Given the description of an element on the screen output the (x, y) to click on. 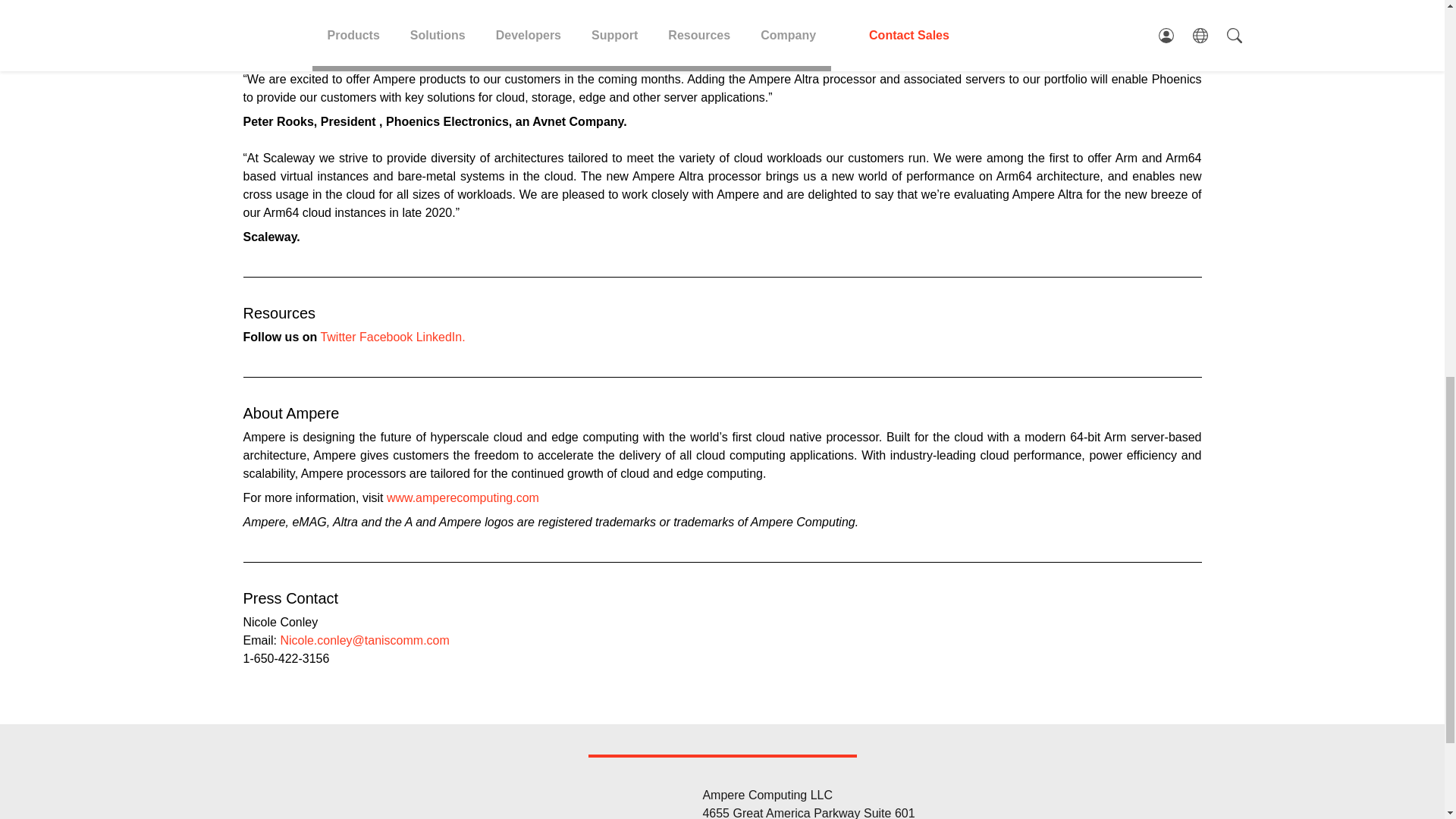
www.amperecomputing.com (462, 497)
Twitter (337, 336)
Facebook (385, 336)
LinkedIn. (440, 336)
